Given the description of an element on the screen output the (x, y) to click on. 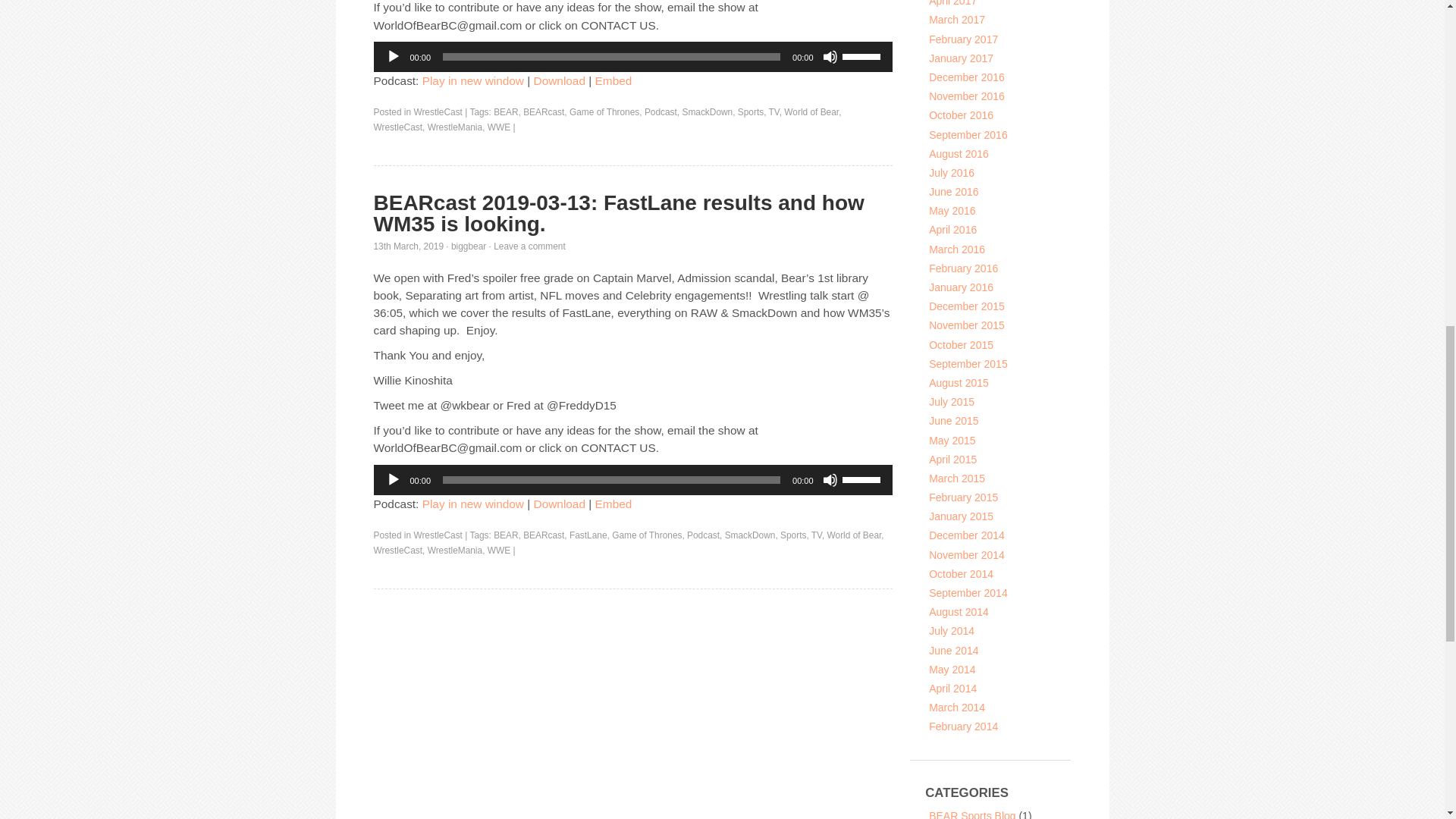
Play in new window (473, 80)
Play (392, 56)
Download (559, 80)
11:28 PM (408, 245)
Play in new window (473, 80)
Embed (613, 80)
Mute (830, 56)
